Given the description of an element on the screen output the (x, y) to click on. 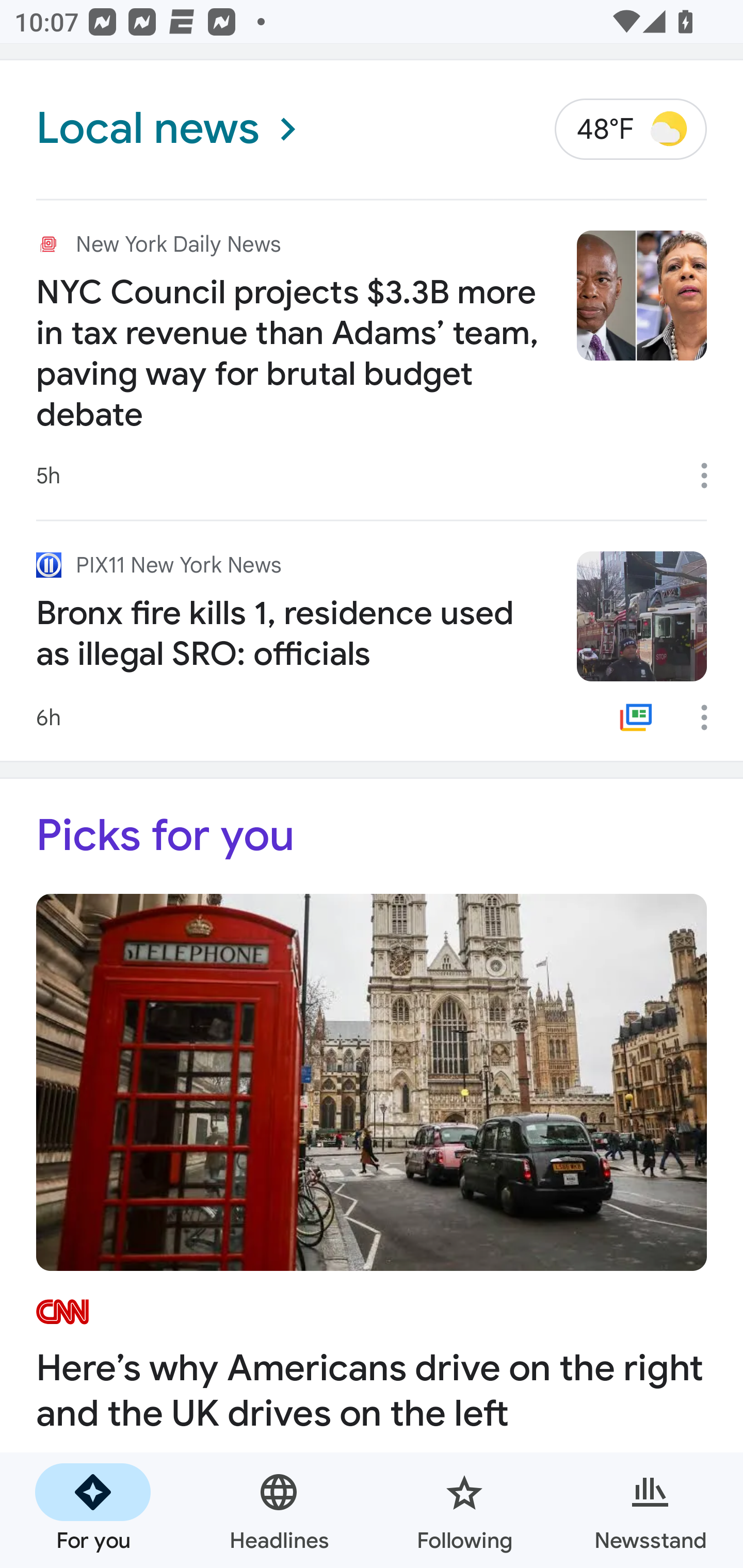
More options (711, 475)
More options (711, 717)
For you (92, 1509)
Headlines (278, 1509)
Following (464, 1509)
Newsstand (650, 1509)
